Given the description of an element on the screen output the (x, y) to click on. 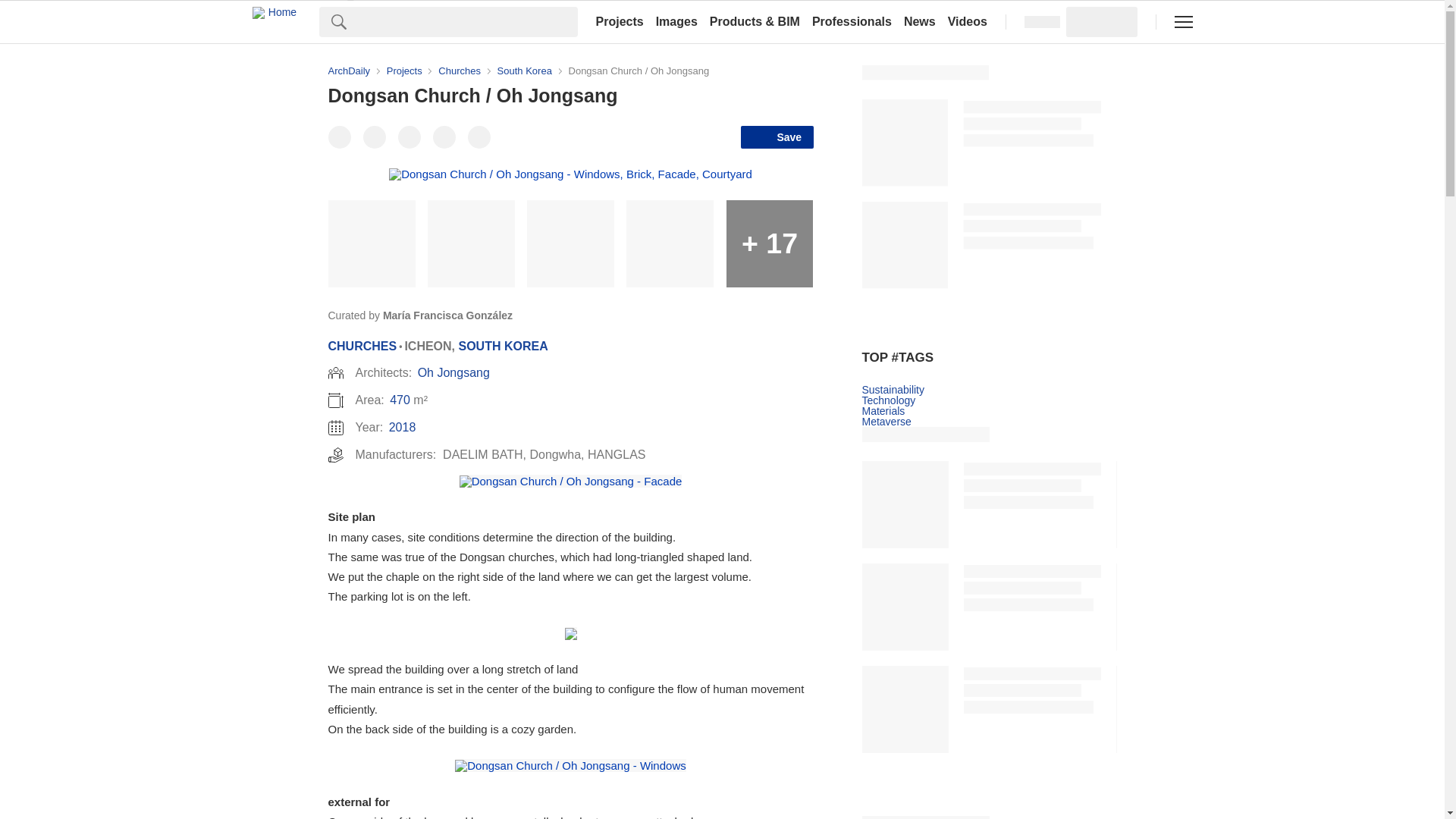
Projects (619, 21)
Professionals (852, 21)
News (920, 21)
Videos (967, 21)
Images (676, 21)
